Given the description of an element on the screen output the (x, y) to click on. 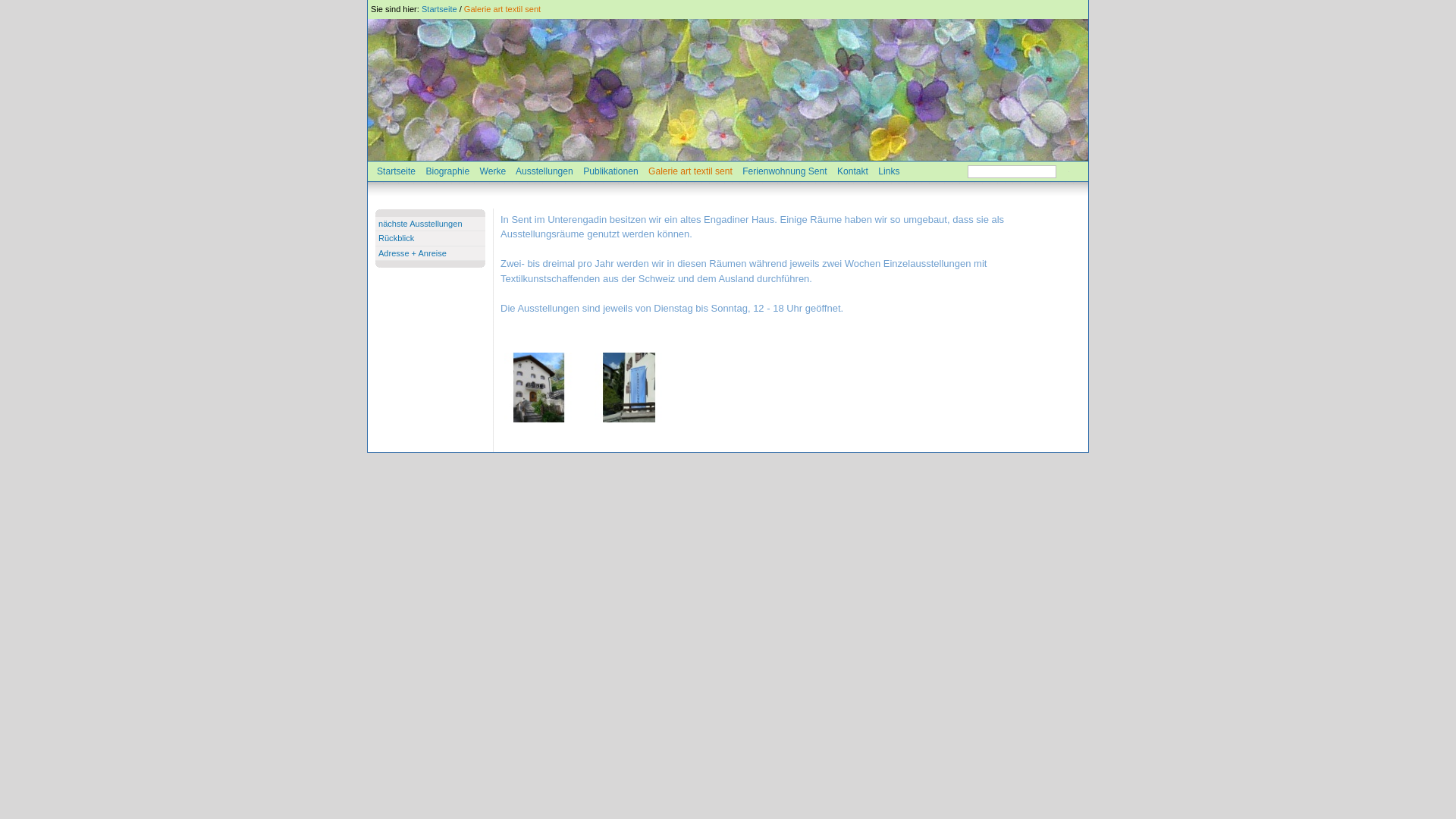
Ausstellungen Element type: text (544, 171)
art textil sent Element type: hover (629, 387)
Ferienwohnung Sent Element type: text (784, 171)
Werke Element type: text (492, 171)
Kontakt Element type: text (852, 171)
header.jpg Element type: hover (727, 89)
Biographie Element type: text (447, 171)
Startseite Element type: text (395, 171)
art textil sent Element type: hover (629, 387)
Galerie art textil sent Element type: text (502, 8)
Publikationen Element type: text (610, 171)
Adresse + Anreise Element type: text (412, 252)
Galerie art textil sent Element type: text (690, 171)
Startseite Element type: text (439, 8)
Chasa Triazza, Sent Element type: hover (539, 387)
Links Element type: text (888, 171)
Chasa Triazza, Sent Element type: hover (539, 387)
